Given the description of an element on the screen output the (x, y) to click on. 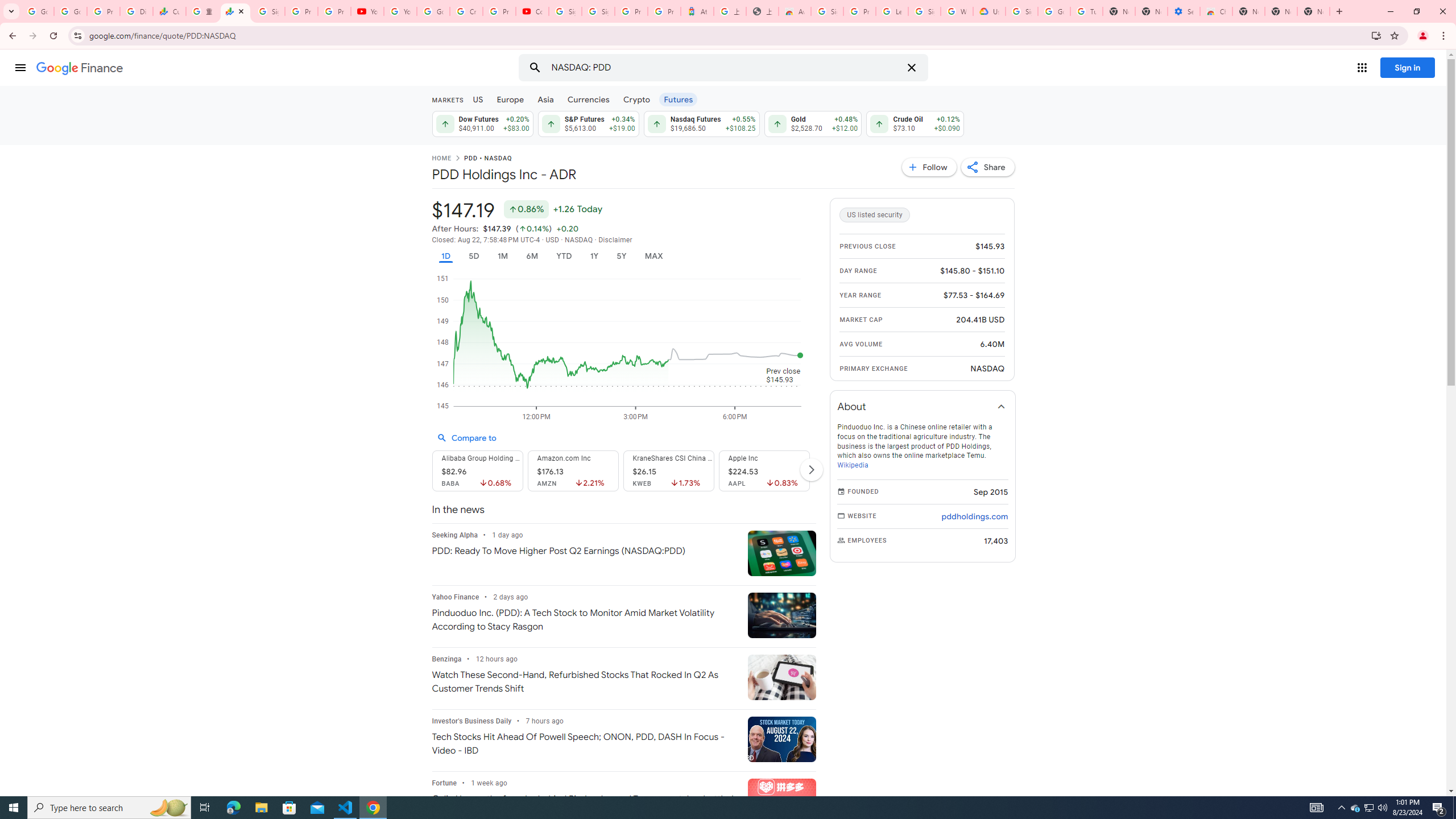
Settings - Accessibility (1183, 11)
Wikipedia (852, 465)
US (477, 99)
YouTube (367, 11)
1D (445, 255)
Content Creator Programs & Opportunities - YouTube Creators (532, 11)
System (6, 6)
pddholdings.com (974, 516)
